Given the description of an element on the screen output the (x, y) to click on. 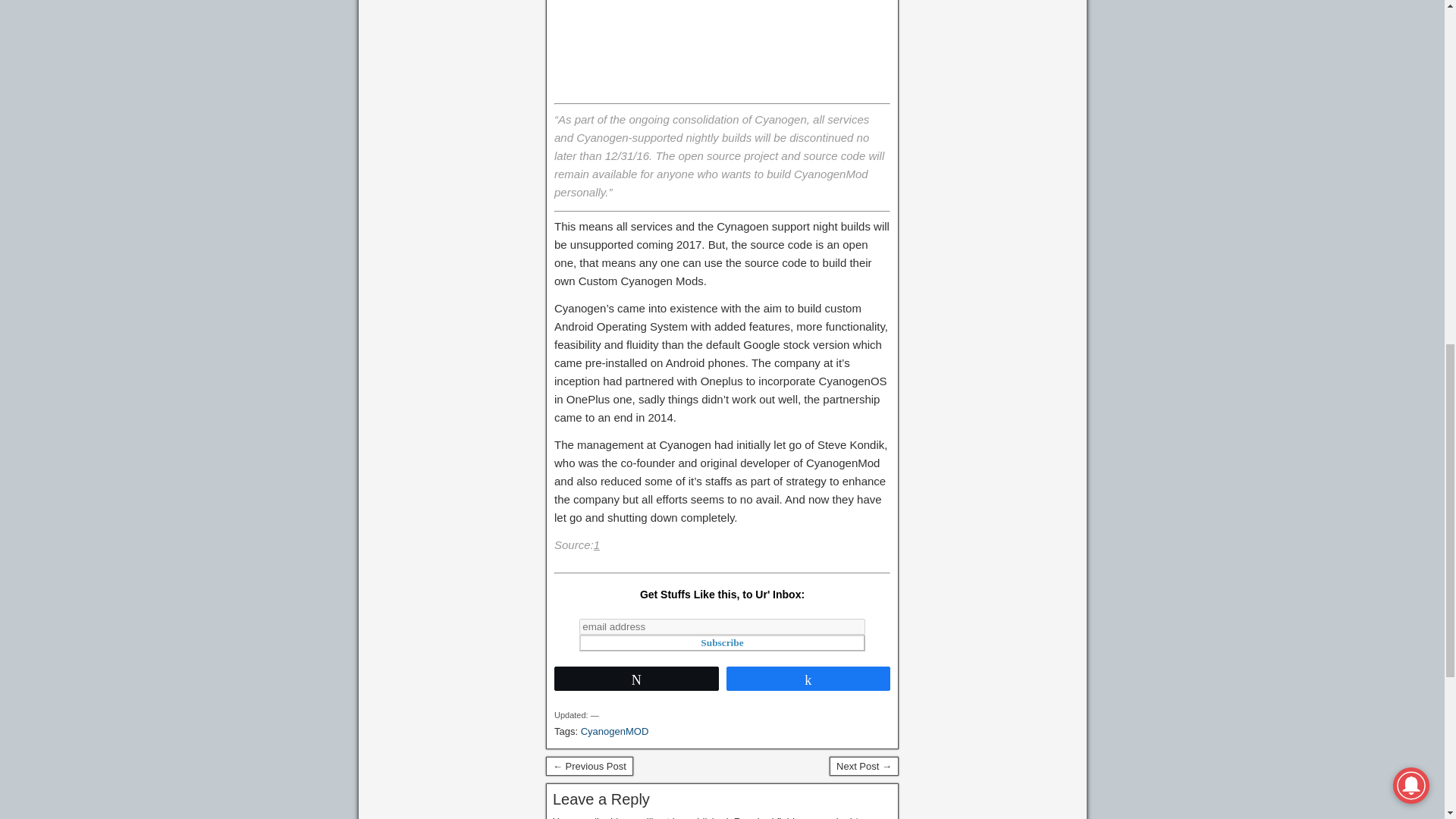
Subscribe (721, 642)
Advertisement (721, 43)
CyanogenMOD (614, 731)
Subscribe (721, 642)
